Given the description of an element on the screen output the (x, y) to click on. 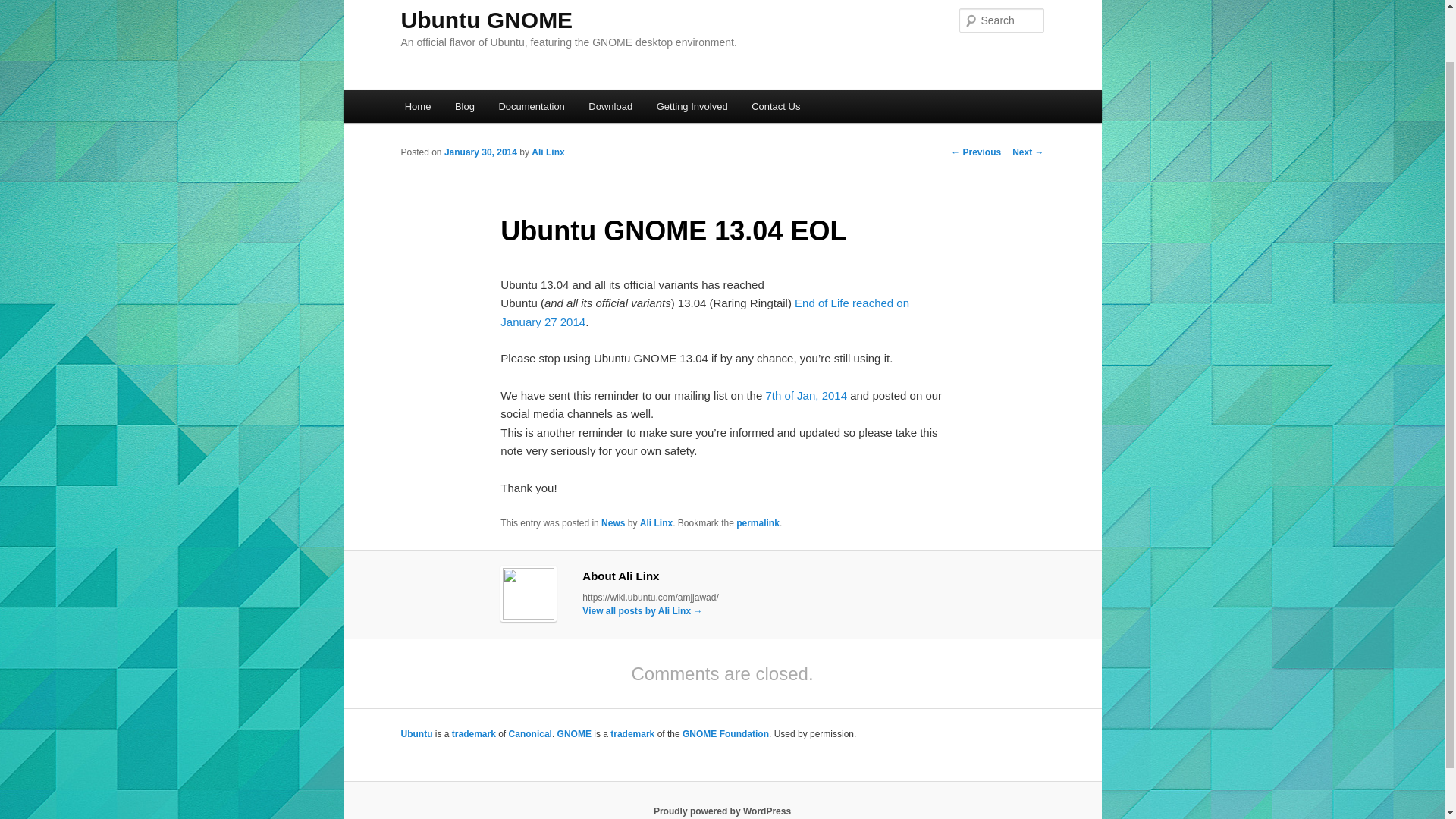
Download (610, 106)
10:56 pm (480, 152)
trademark (473, 733)
News (612, 522)
Ubuntu (416, 733)
Ali Linx (547, 152)
Getting Involved (692, 106)
Canonical (529, 733)
Permalink to Ubuntu GNOME 13.04 EOL (757, 522)
Ubuntu GNOME (486, 19)
